Given the description of an element on the screen output the (x, y) to click on. 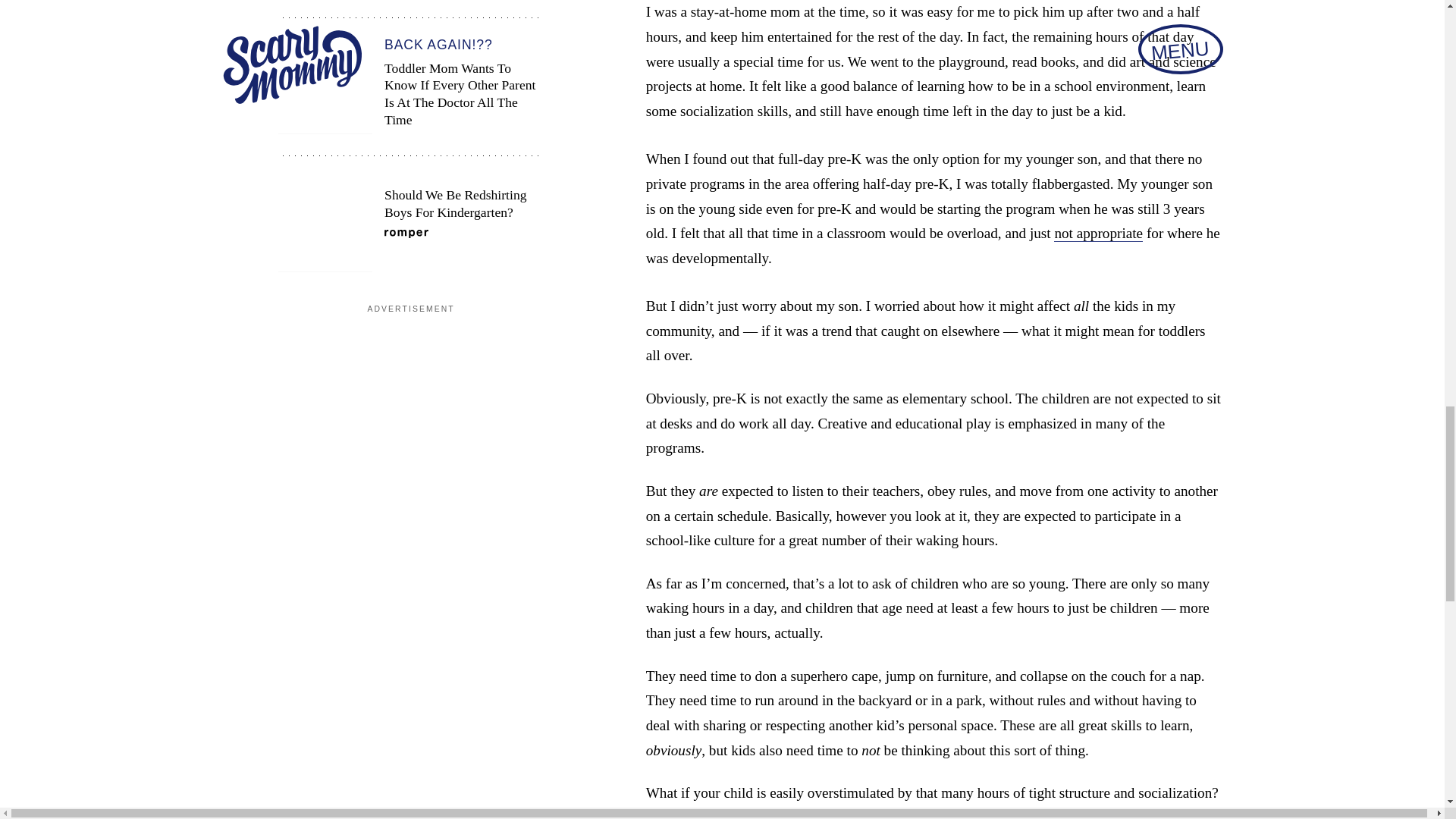
not appropriate (1098, 233)
Should We Be Redshirting Boys For Kindergarten? (410, 224)
